Given the description of an element on the screen output the (x, y) to click on. 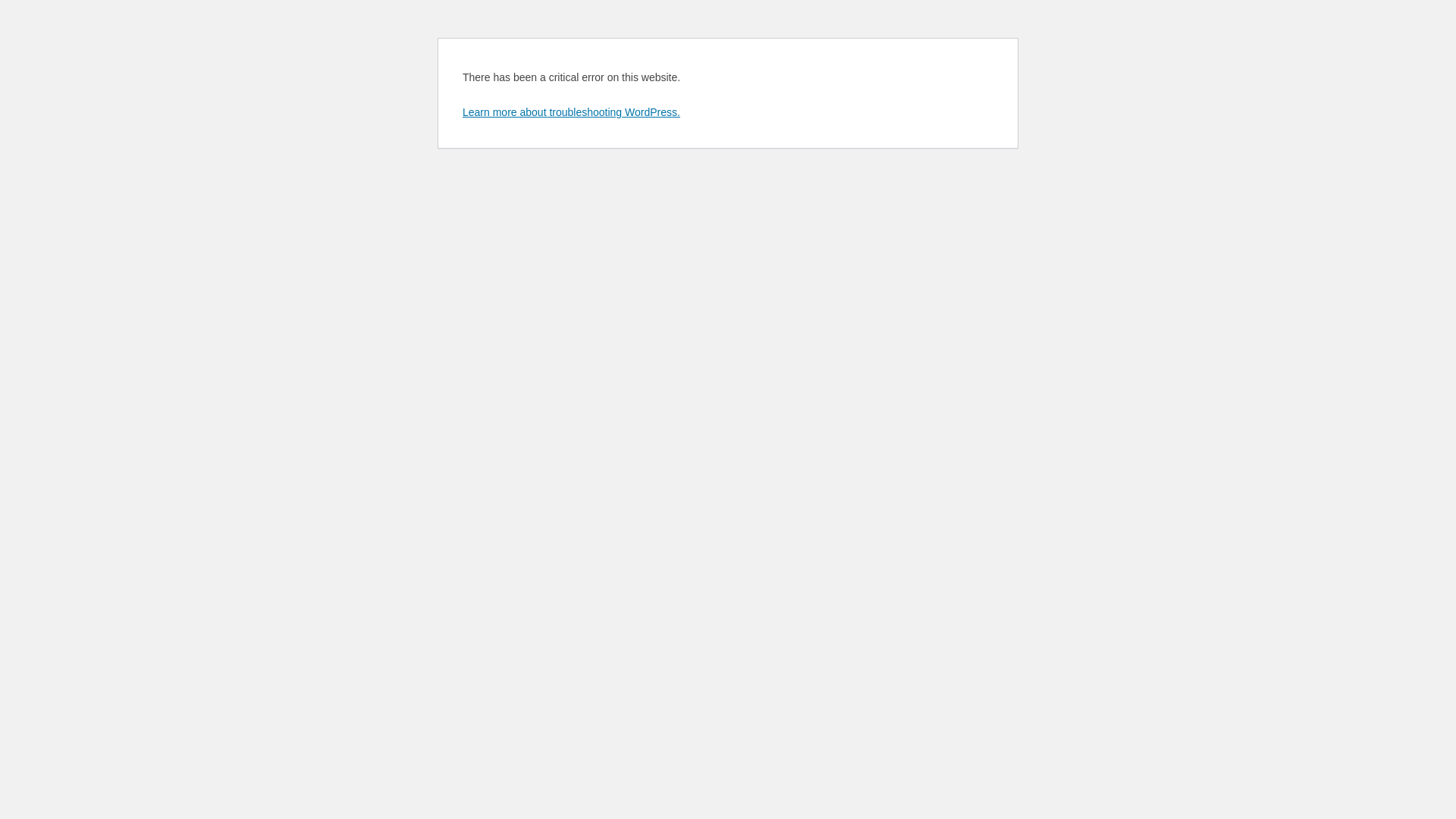
Learn more about troubleshooting WordPress. Element type: text (571, 112)
